Given the description of an element on the screen output the (x, y) to click on. 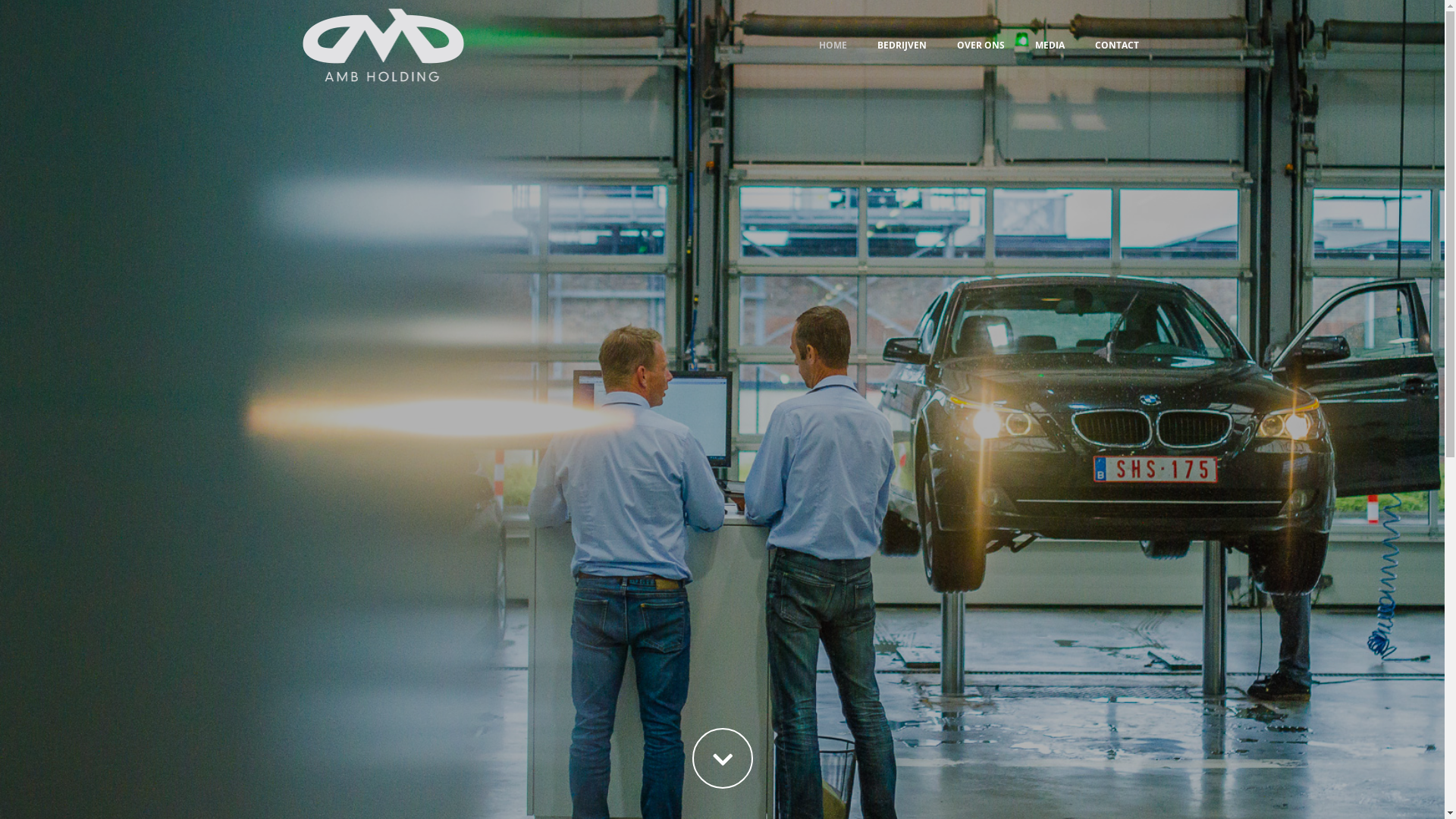
HOME Element type: text (832, 45)
BEDRIJVEN Element type: text (901, 45)
OVER ONS Element type: text (980, 45)
CONTACT Element type: text (1116, 45)
MEDIA Element type: text (1049, 45)
